Given the description of an element on the screen output the (x, y) to click on. 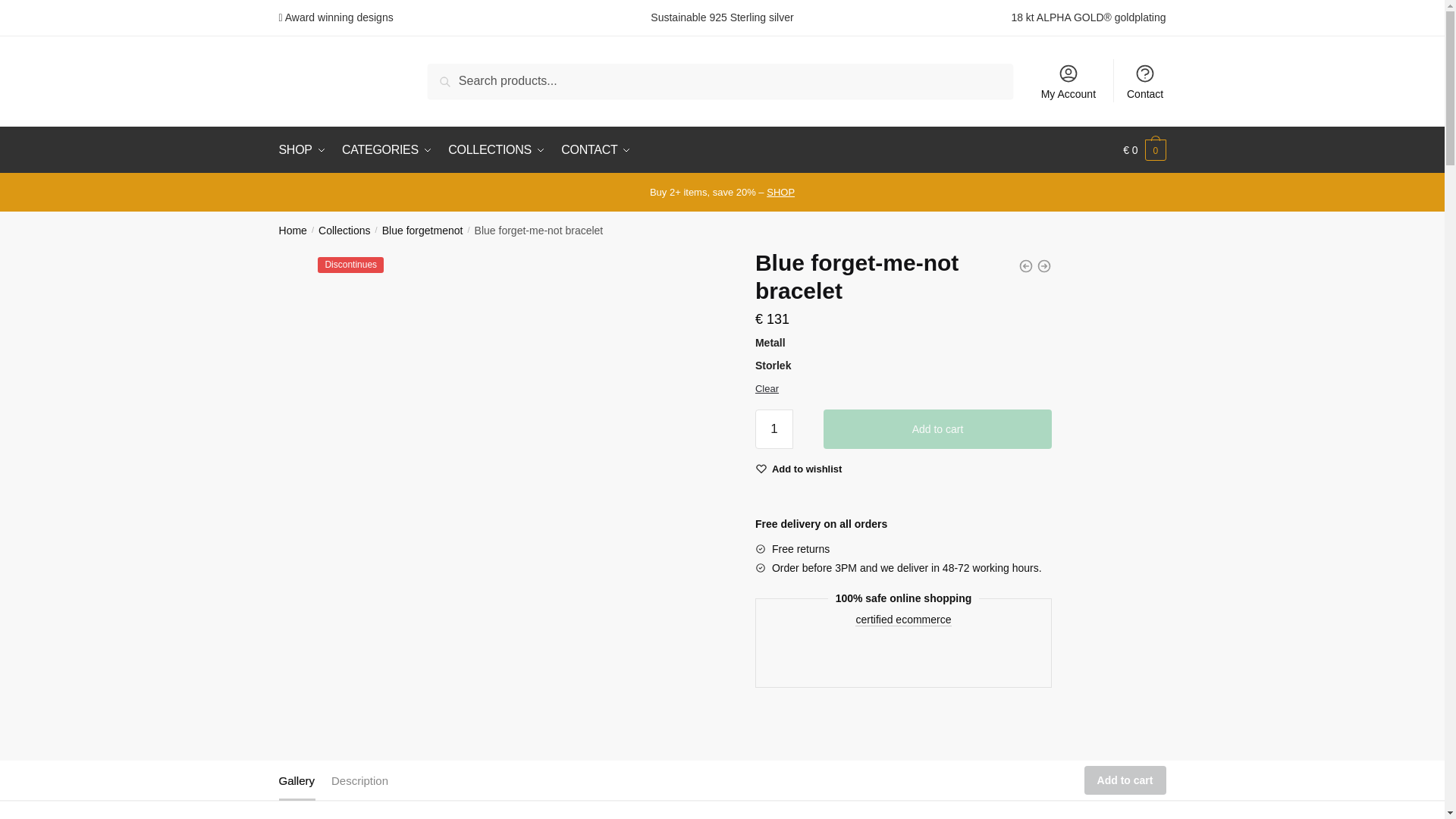
My Account (1067, 80)
Search (465, 80)
1 (774, 428)
CONTACT (595, 149)
Contact (1145, 80)
COLLECTIONS (496, 149)
Sustainable 925 Sterling silver (721, 17)
SHOP (305, 149)
View your shopping cart (1144, 149)
CATEGORIES (387, 149)
